Given the description of an element on the screen output the (x, y) to click on. 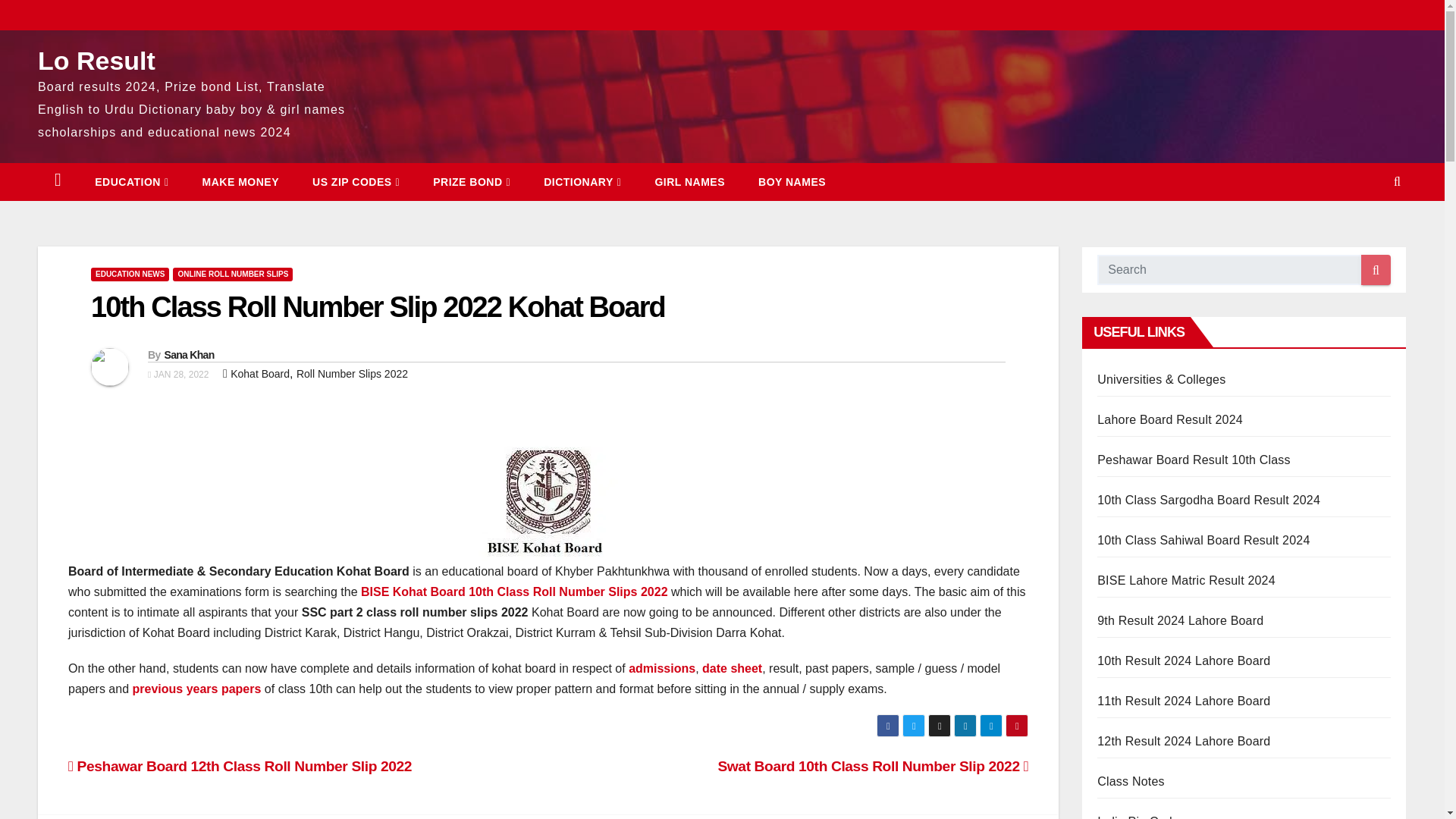
BOY NAMES (792, 181)
Permalink to: 10th Class Roll Number Slip 2022 Kohat Board (377, 306)
PRIZE BOND (471, 181)
10th Class Roll Number Slip 2022 Kohat Board (377, 306)
Sana Khan (188, 354)
BISE Lahore 9th Class Result 2024 (1180, 620)
EDUCATION (131, 181)
EDUCATION NEWS (129, 274)
Lo Result (96, 60)
BISE Lahore Result 2024 (1186, 580)
